Given the description of an element on the screen output the (x, y) to click on. 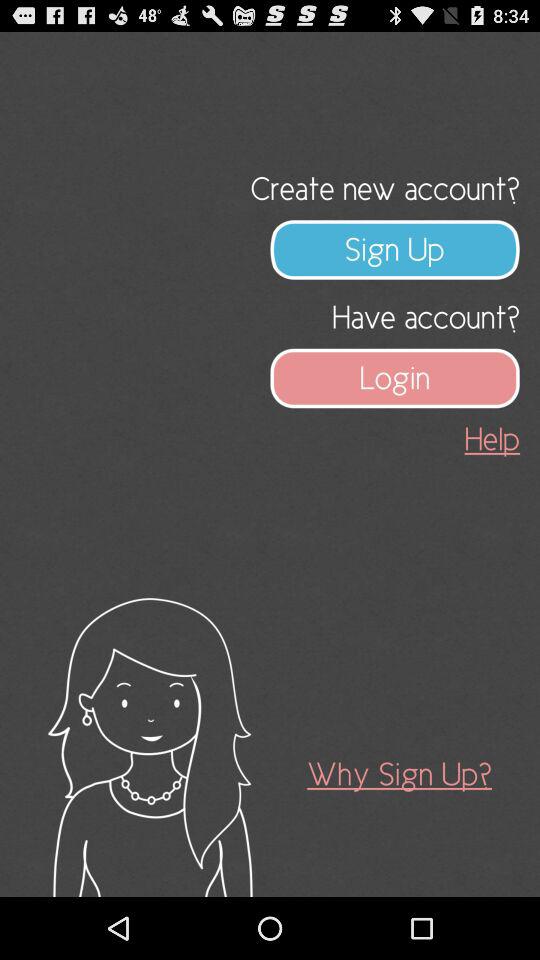
jump until login (395, 378)
